Given the description of an element on the screen output the (x, y) to click on. 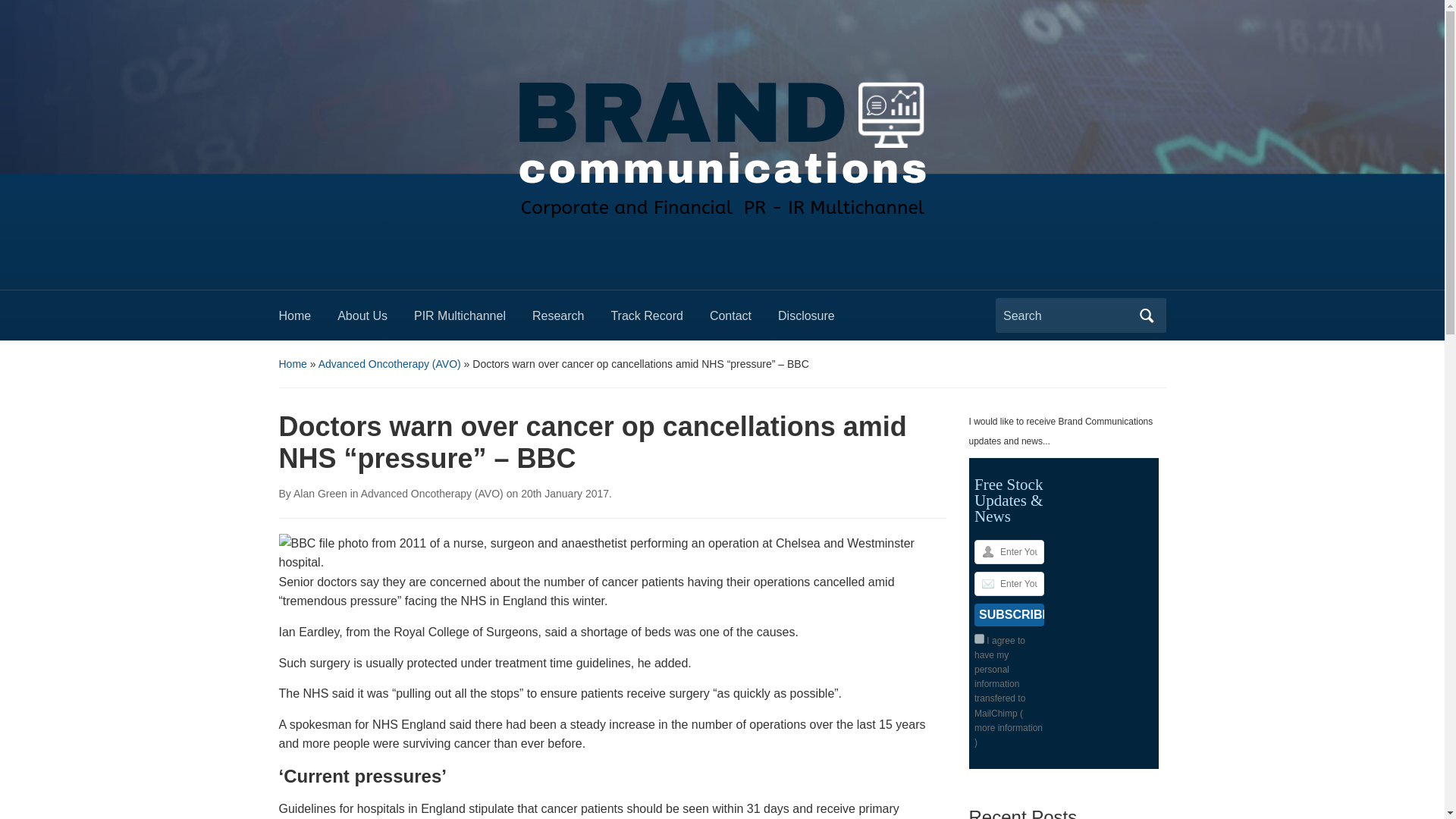
 -  (721, 139)
Track Record (659, 320)
Research (571, 320)
View all posts by Alan Green (320, 493)
1:55 pm (564, 493)
on (979, 638)
SUBSCRIBE HERE (1008, 614)
About Us (375, 320)
Home (308, 320)
PIR Multichannel (472, 320)
